Given the description of an element on the screen output the (x, y) to click on. 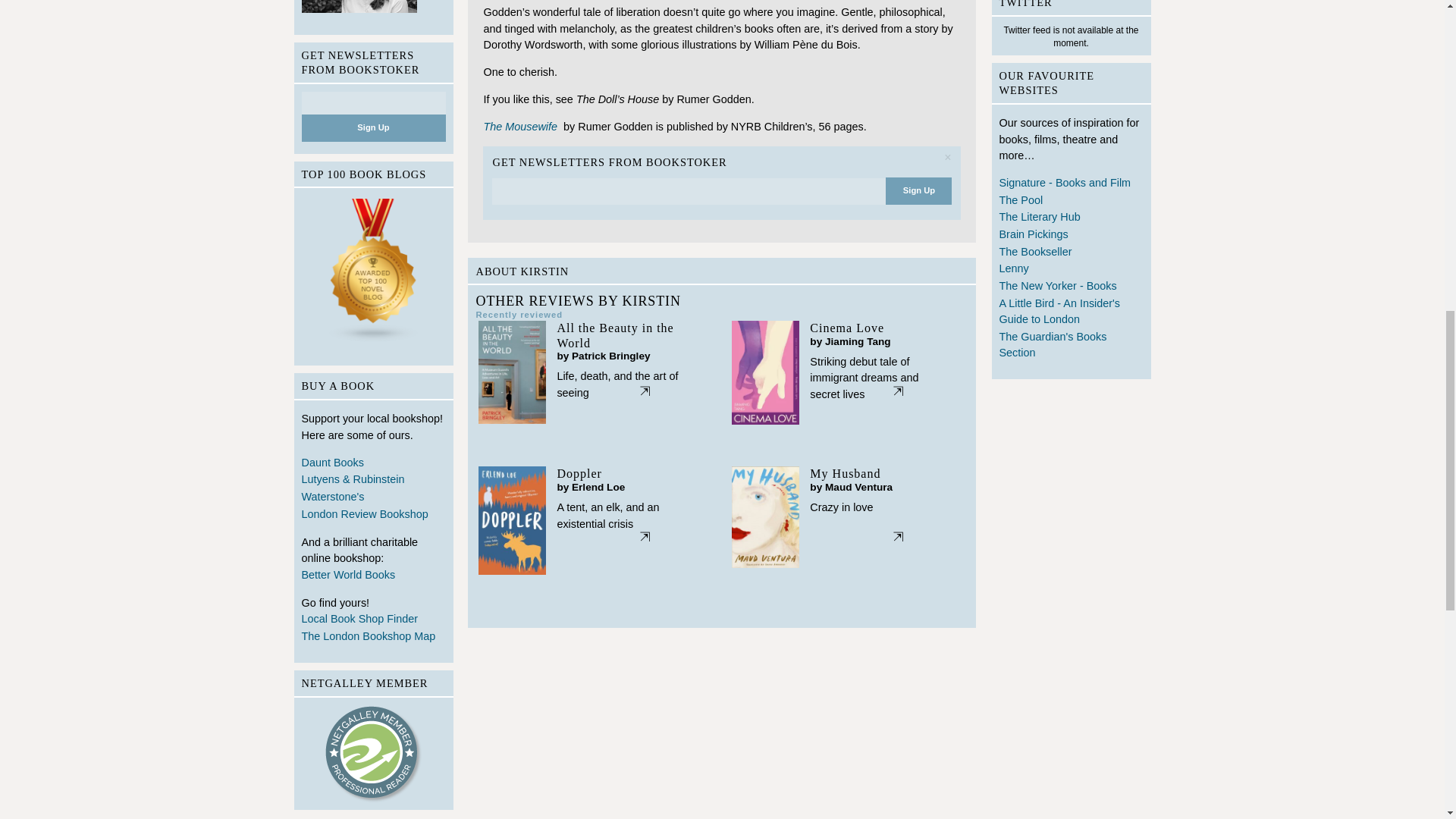
Waterstone's (373, 497)
Daunt Books (373, 463)
Novel blogs (373, 273)
Professional Reader (373, 754)
Sign Up (373, 127)
London Review Bookshop (373, 515)
Sign Up (373, 127)
Sign Up (918, 190)
